Given the description of an element on the screen output the (x, y) to click on. 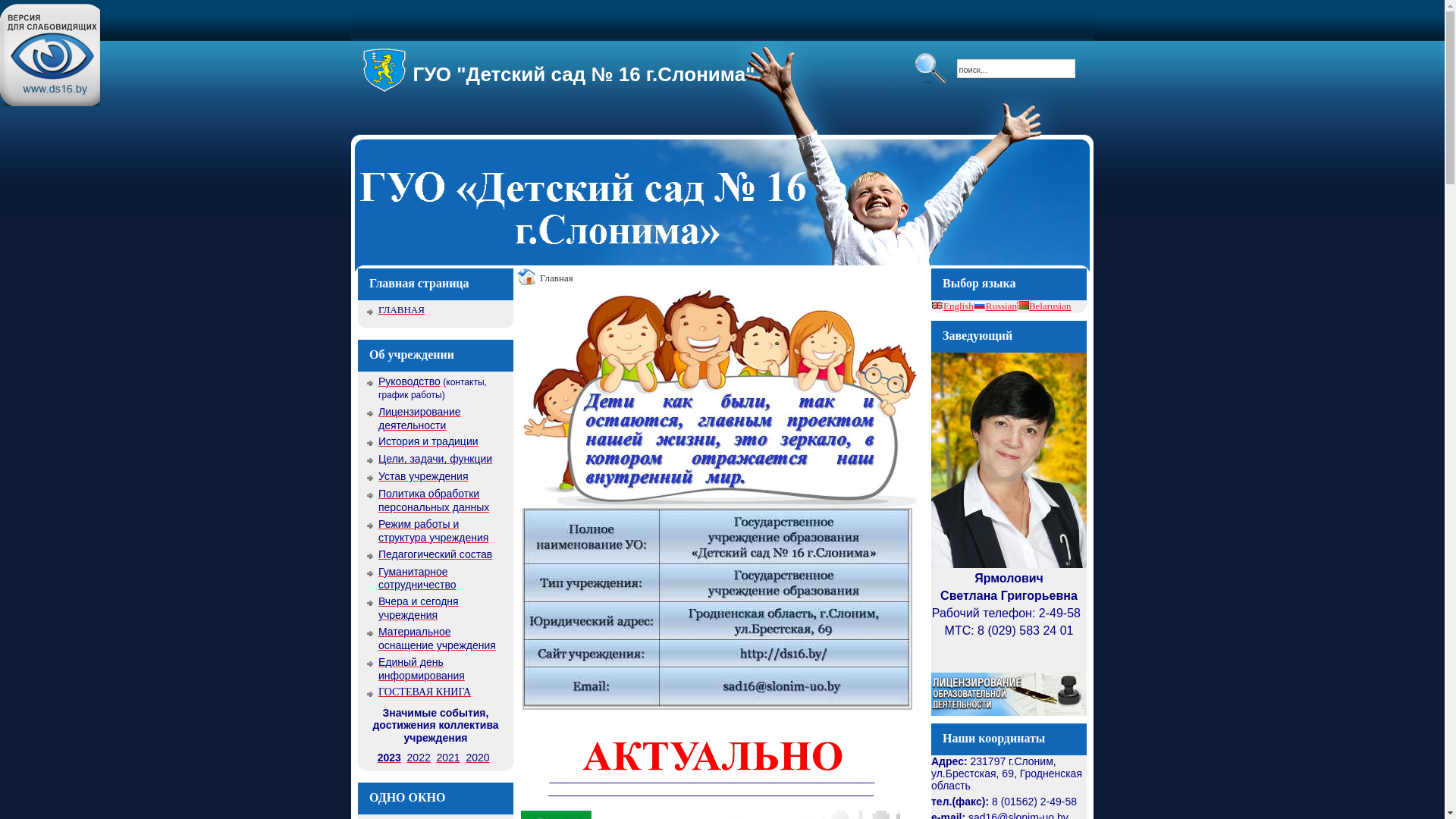
Belarusian Element type: text (1043, 305)
2022 Element type: text (418, 757)
2023 Element type: text (389, 757)
Russian Element type: text (994, 305)
2020 Element type: text (477, 757)
2021 Element type: text (448, 757)
English Element type: text (952, 305)
